Given the description of an element on the screen output the (x, y) to click on. 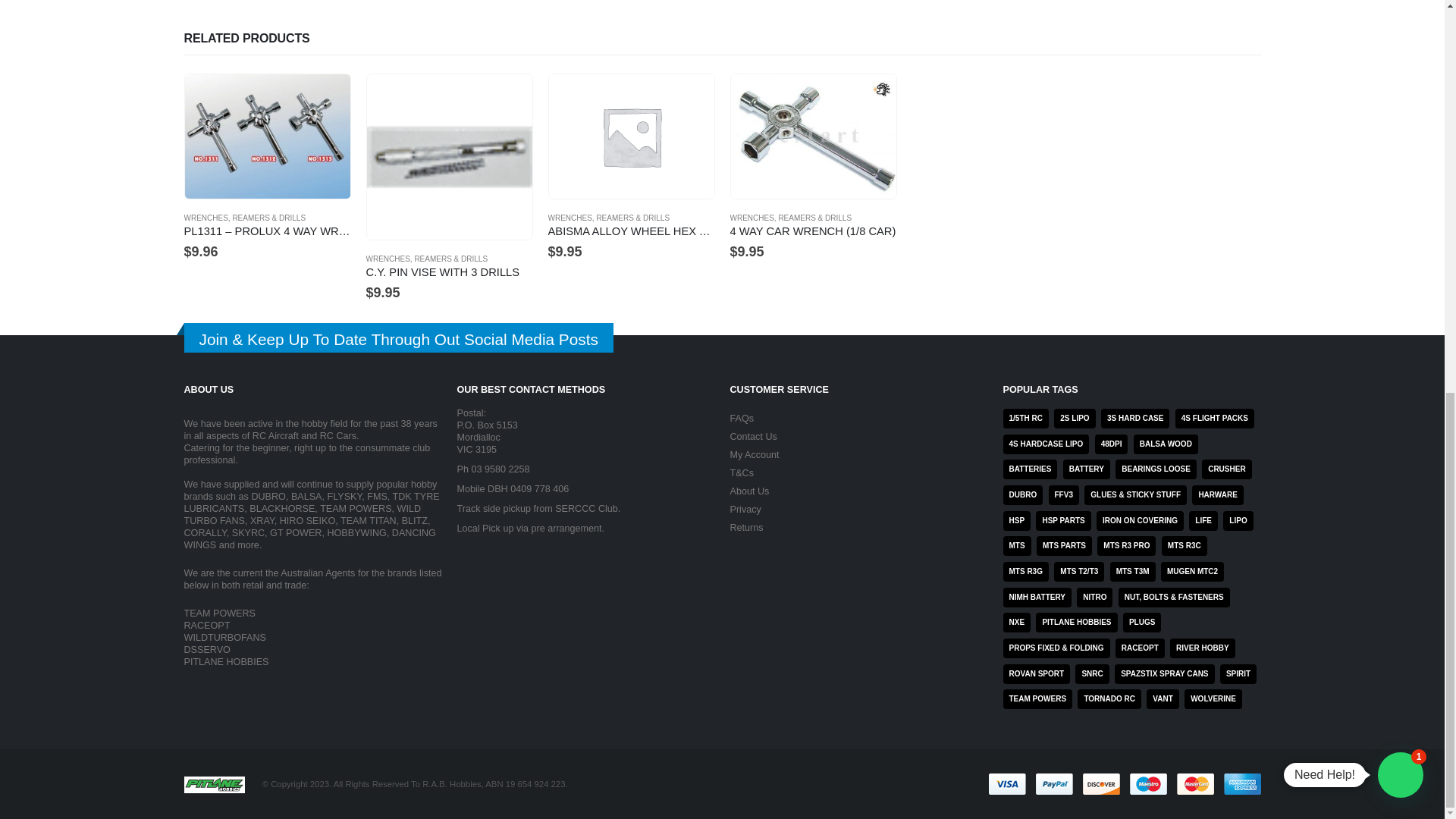
C.Y. PIN VISE WITH 3 DRILLS (448, 272)
